Given the description of an element on the screen output the (x, y) to click on. 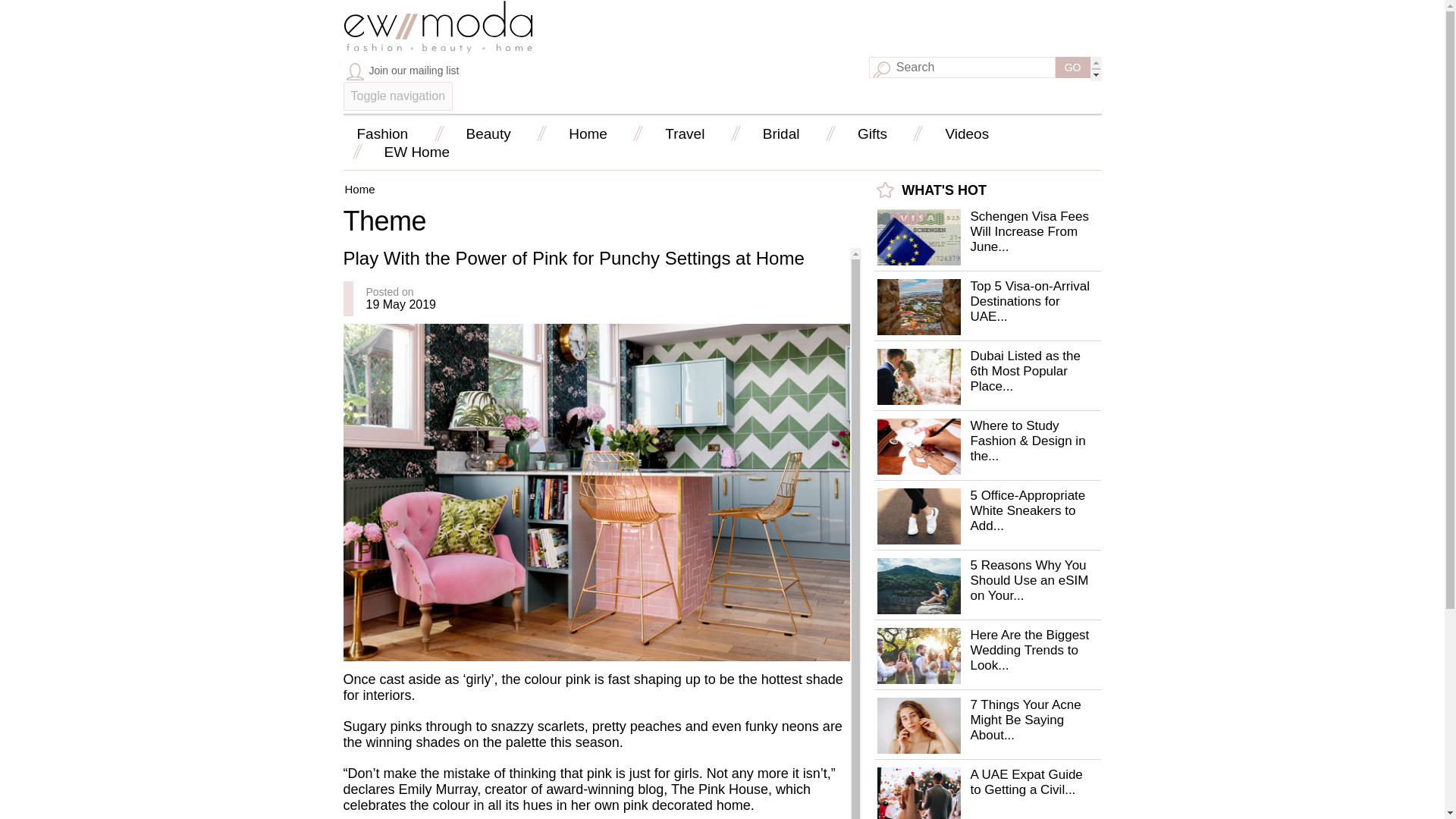
Fashion (382, 134)
Home (437, 48)
Enter the terms you wish to search for. (962, 66)
Bridal (781, 134)
Why you should always travel with an e-sim (918, 585)
Toggle navigation (397, 95)
Home (587, 134)
Top 5 Visa-on-Arrival Destinations for UAE... (1029, 301)
Schengen Visa Fees Will Increase From June 2024 (918, 237)
Where to study fashion and design in the UAE (918, 446)
Beauty (488, 134)
Schengen Visa Fees Will Increase From June... (1029, 231)
Beauty (488, 134)
